Given the description of an element on the screen output the (x, y) to click on. 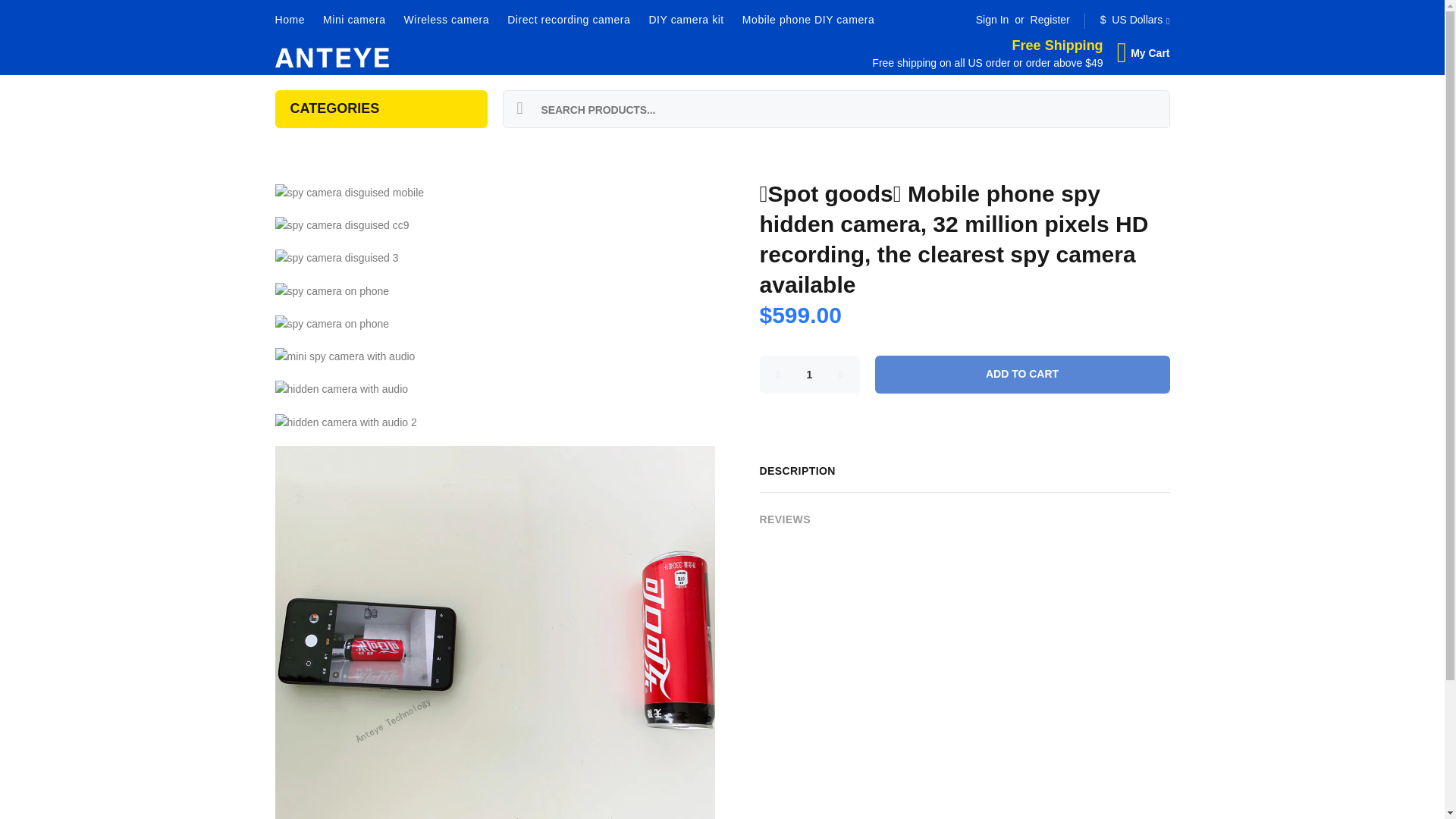
Mobile phone DIY camera (804, 19)
My Cart (1140, 52)
Mini camera (354, 19)
DIY camera kit (685, 19)
Direct recording camera (568, 19)
Sign In (991, 19)
1 (810, 374)
Register (1050, 19)
Wireless camera (445, 19)
Home (294, 19)
